Given the description of an element on the screen output the (x, y) to click on. 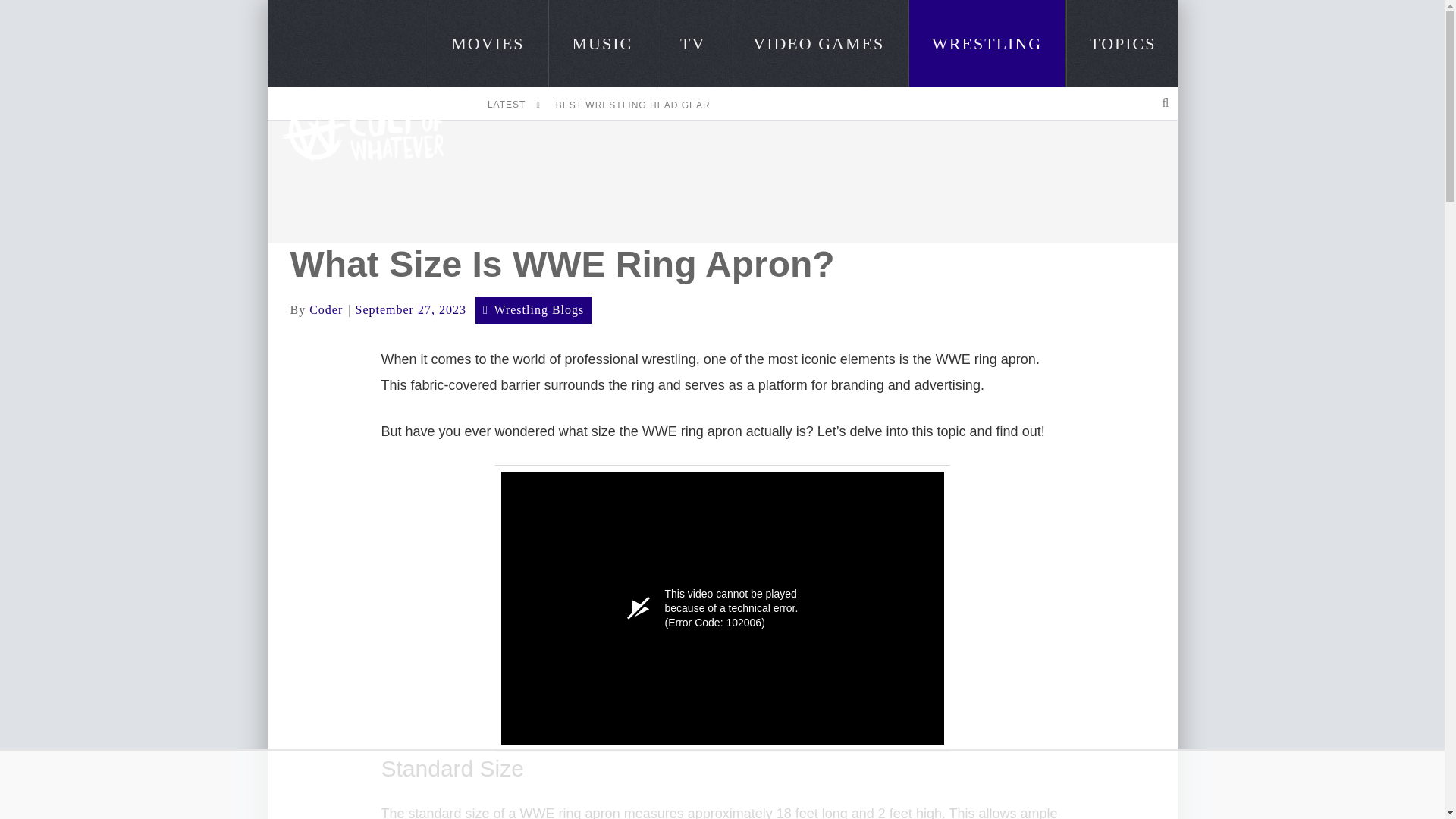
Look Best Wrestling Head Gear (633, 104)
View all posts in Wrestling Blogs (538, 309)
MUSIC (601, 43)
MOVIES (487, 43)
